Given the description of an element on the screen output the (x, y) to click on. 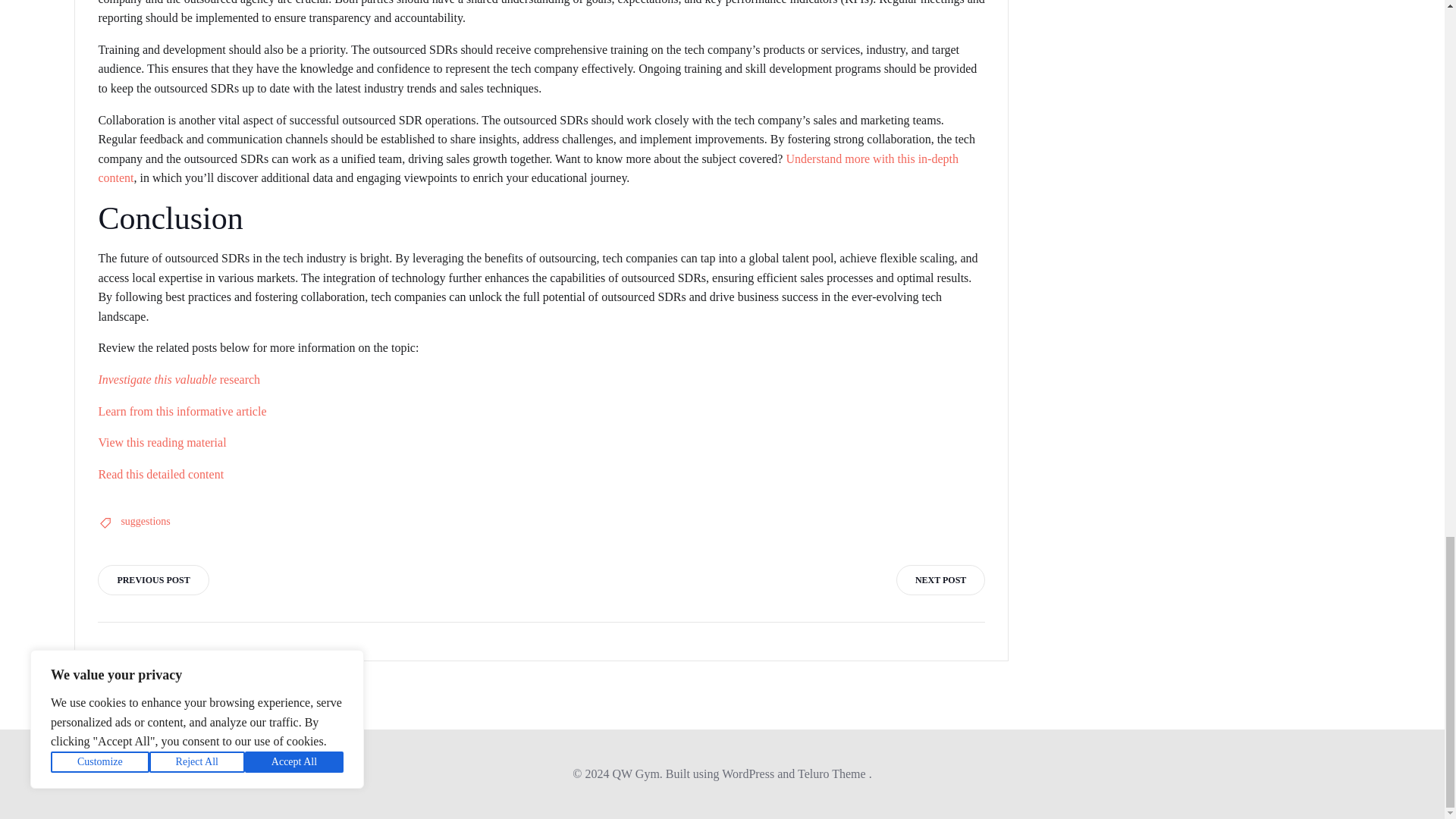
Read this detailed content (160, 473)
Investigate this valuable research (178, 379)
suggestions (145, 521)
NEXT POST (940, 580)
Learn from this informative article (181, 410)
PREVIOUS POST (152, 580)
View this reading material (161, 441)
Understand more with this in-depth content (527, 168)
Tag: suggestions (145, 521)
